Given the description of an element on the screen output the (x, y) to click on. 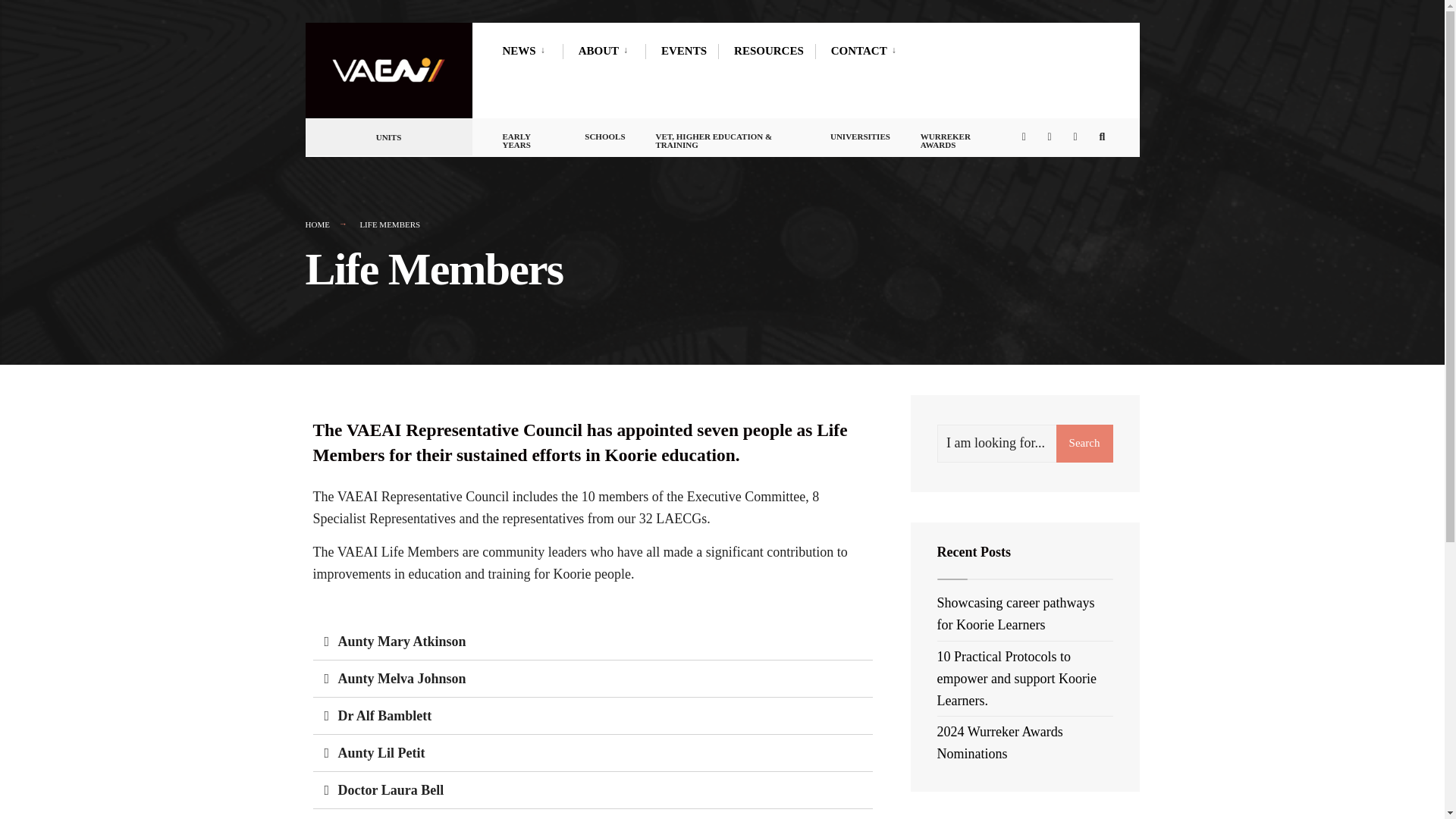
EVENTS (683, 50)
HOME (316, 224)
CONTACT (866, 50)
EARLY YEARS (528, 137)
ABOUT (605, 50)
SCHOOLS (604, 132)
WURREKER AWARDS (959, 137)
RESOURCES (768, 50)
UNIVERSITIES (859, 132)
I am looking for... (1025, 443)
